Given the description of an element on the screen output the (x, y) to click on. 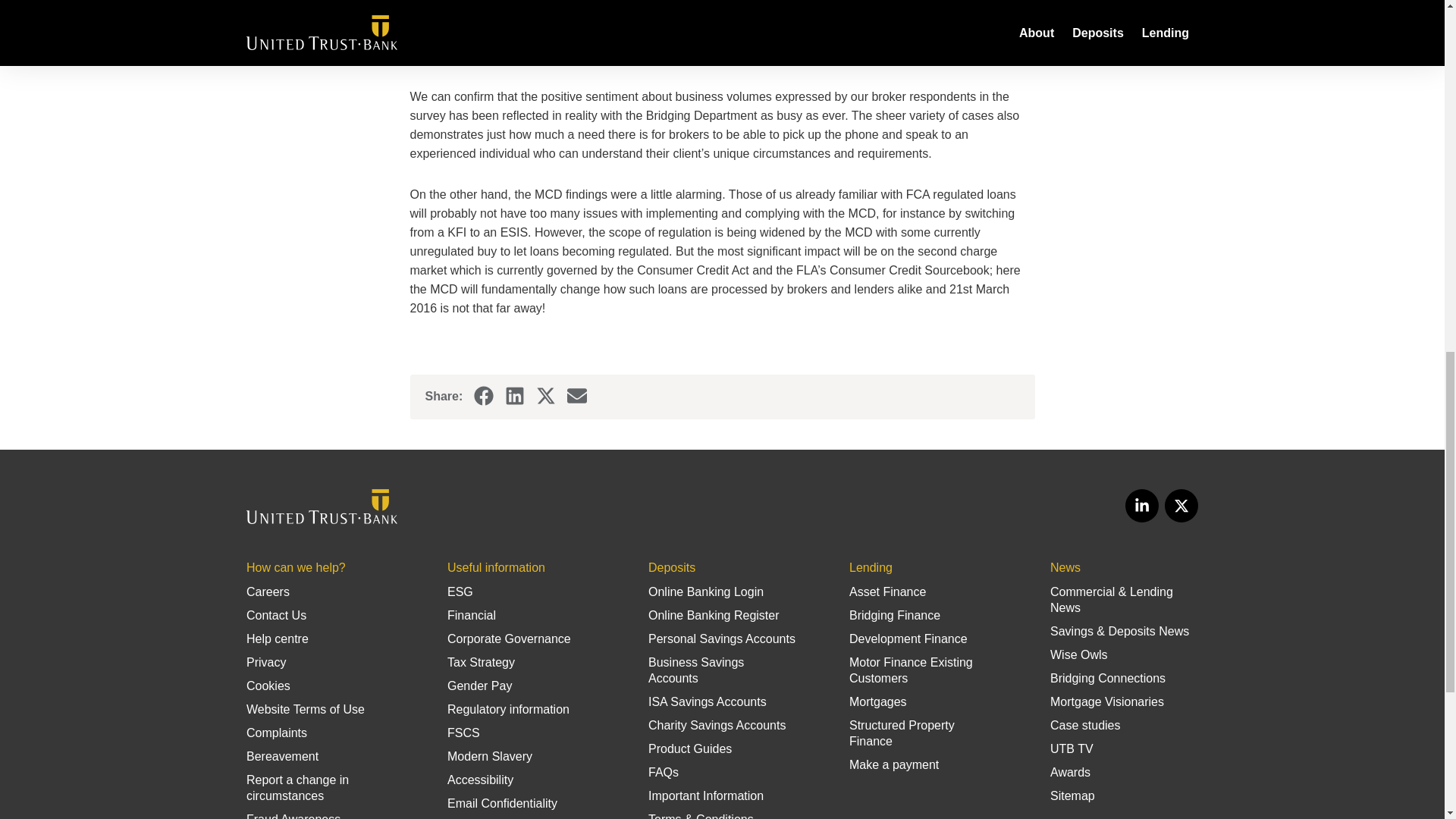
Facebook (483, 396)
Bereavement (282, 756)
United Bank Trust logo (321, 506)
Cookies (267, 685)
Privacy (265, 662)
Contact Us (275, 615)
Website Terms of Use (305, 708)
Fraud Awareness (293, 816)
ESG (459, 591)
Report a change in circumstances (297, 787)
